Given the description of an element on the screen output the (x, y) to click on. 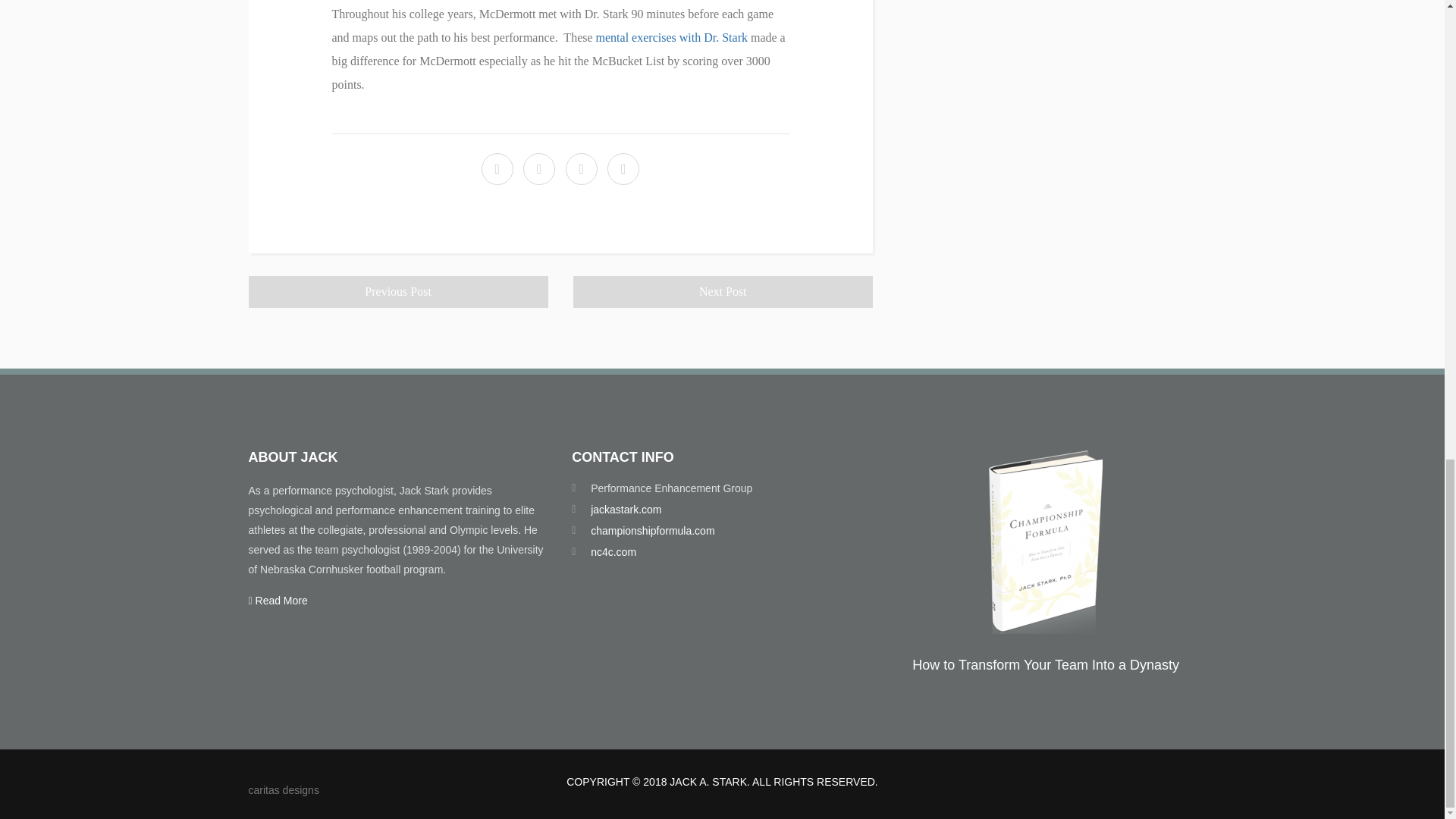
Next Post (722, 291)
Read More (277, 600)
championshipformula.com (652, 530)
Previous Post (398, 291)
jackastark.com (626, 509)
mental exercises with Dr. Stark (671, 37)
nc4c.com (613, 551)
